Given the description of an element on the screen output the (x, y) to click on. 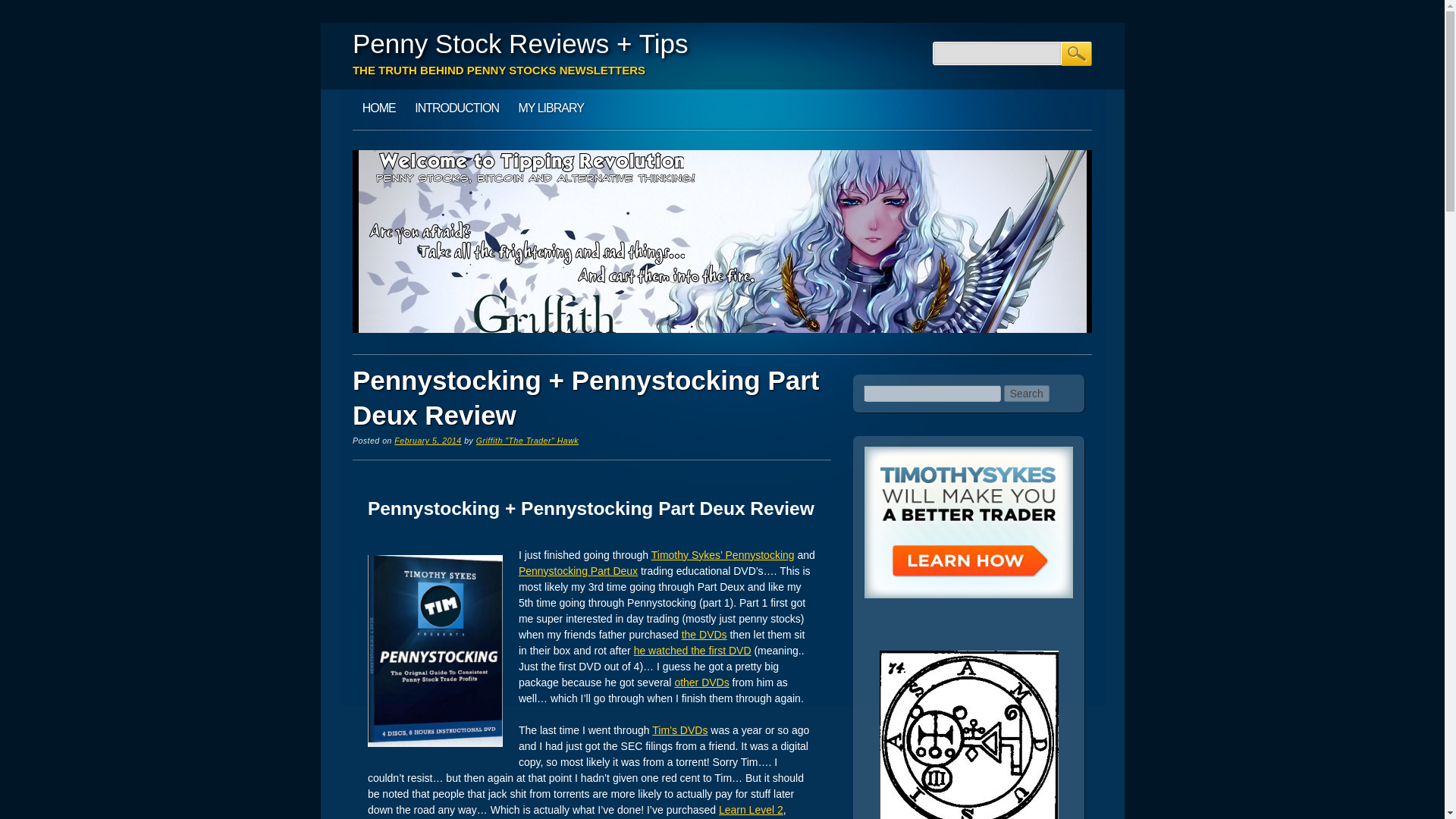
Timothy Sykes and Profit.ly Guru Educational DVDs (701, 682)
Search (1026, 393)
Search (1076, 53)
Timothy Sykes and Profit.ly Guru Educational DVDs (703, 634)
he watched the first DVD (692, 650)
Buy Timothy Sykes Pennystocking Part 1 DVD (722, 554)
Learn Level 2 (751, 809)
other DVDs (701, 682)
Pennystocking Part Deux (577, 571)
View all posts by Griffith "The Trader" Hawk (527, 440)
7:44 am (427, 440)
Search (1076, 53)
Learn Level 2 Trading - The Streaming DVD Buy It Here (751, 809)
Timothy Sykes and Profit.ly Guru Educational DVDs (679, 729)
Griffith "The Trader" Hawk (527, 440)
